Given the description of an element on the screen output the (x, y) to click on. 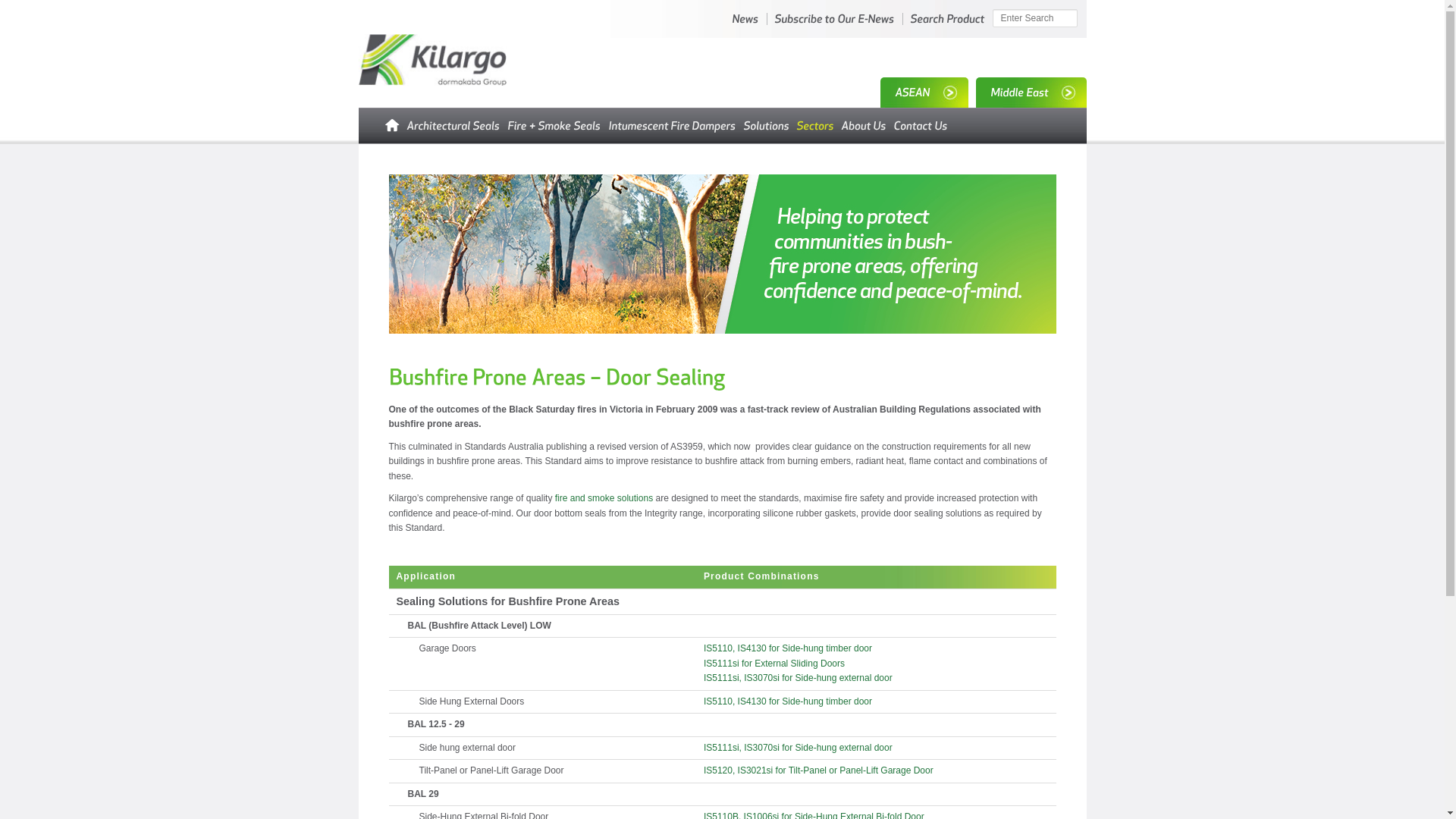
About Kilargo Element type: hover (863, 125)
Home Element type: hover (380, 125)
Search Element type: text (24, 8)
IS5110, IS4130 for Side-hung timber door Element type: text (787, 648)
IS5111si for External Sliding Doors Element type: text (773, 663)
Home Element type: hover (379, 125)
IS5110, IS4130 for Side-hung timber door Element type: text (787, 701)
fire and smoke solutions Element type: text (603, 497)
IS5111si, IS3070si for Side-hung external door Element type: text (797, 747)
Contact Us Element type: hover (920, 125)
IS5111si, IS3070si for Side-hung external door Element type: text (797, 677)
IS5120, IS3021si for Tilt-Panel or Panel-Lift Garage Door Element type: text (818, 770)
Industry Sectors Element type: hover (815, 125)
